Given the description of an element on the screen output the (x, y) to click on. 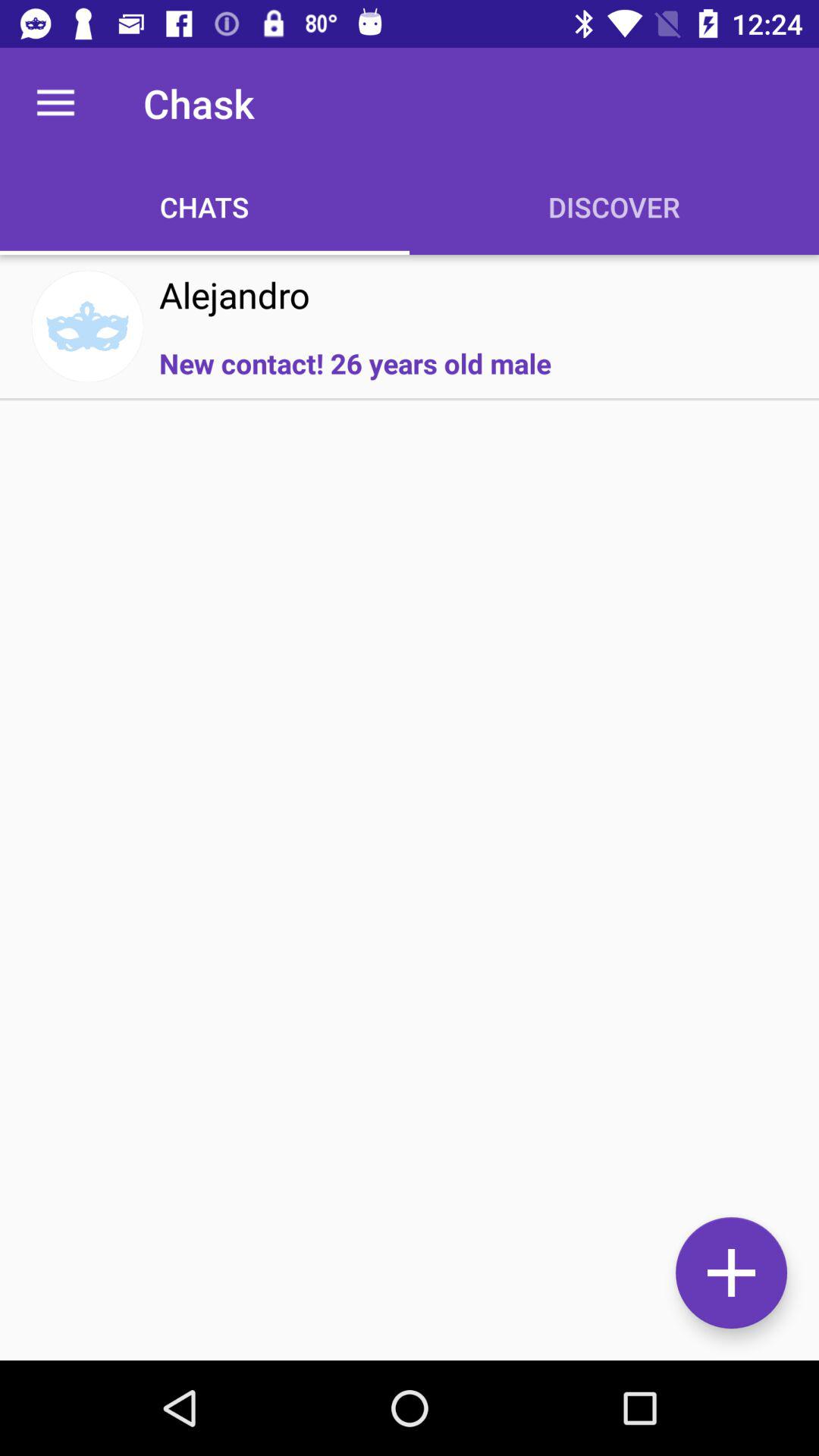
launch the icon next to the chask icon (55, 103)
